Given the description of an element on the screen output the (x, y) to click on. 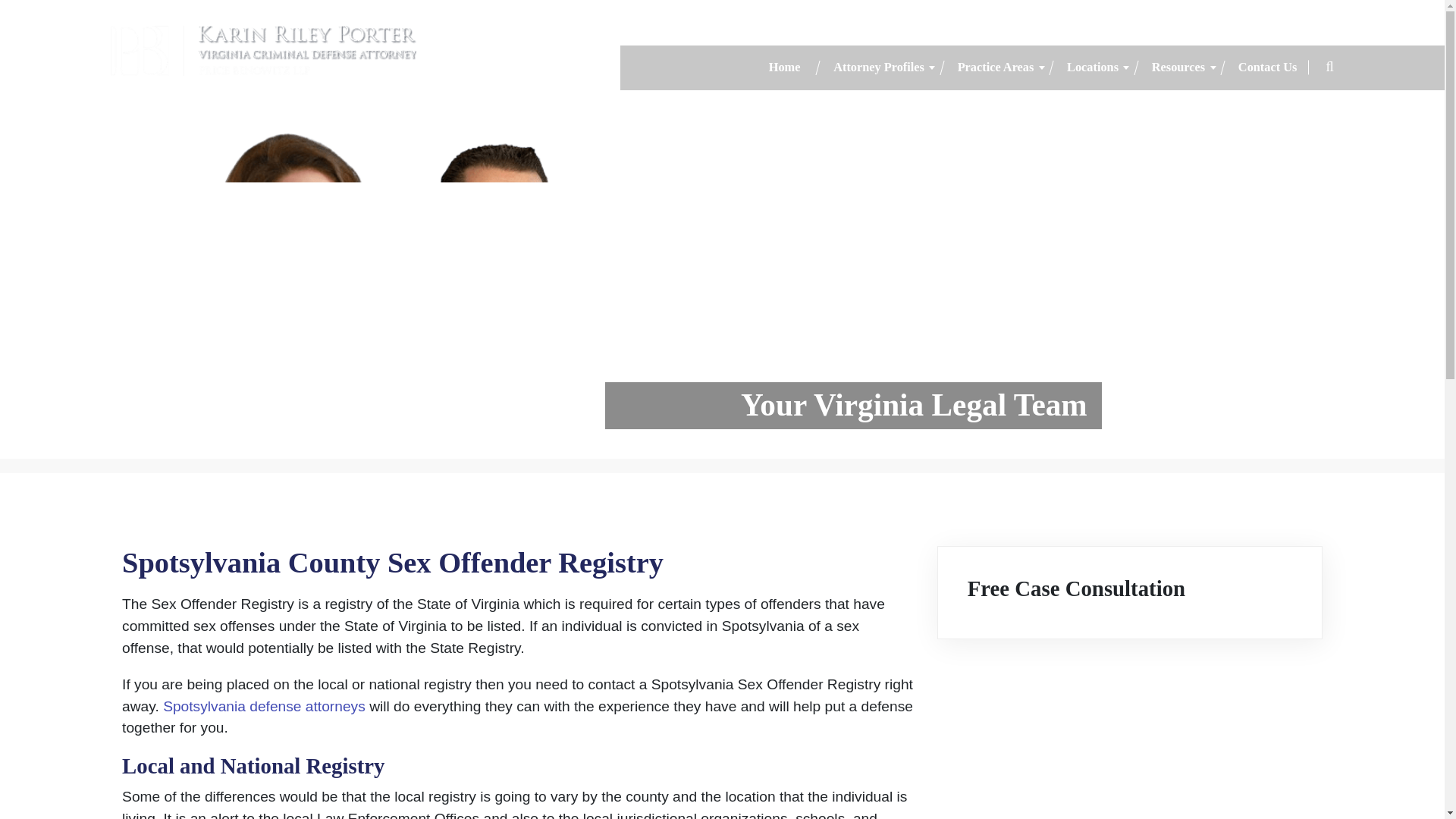
Attorney Profiles (878, 68)
Home (784, 68)
Practice Areas (995, 68)
Locations (1092, 68)
